Given the description of an element on the screen output the (x, y) to click on. 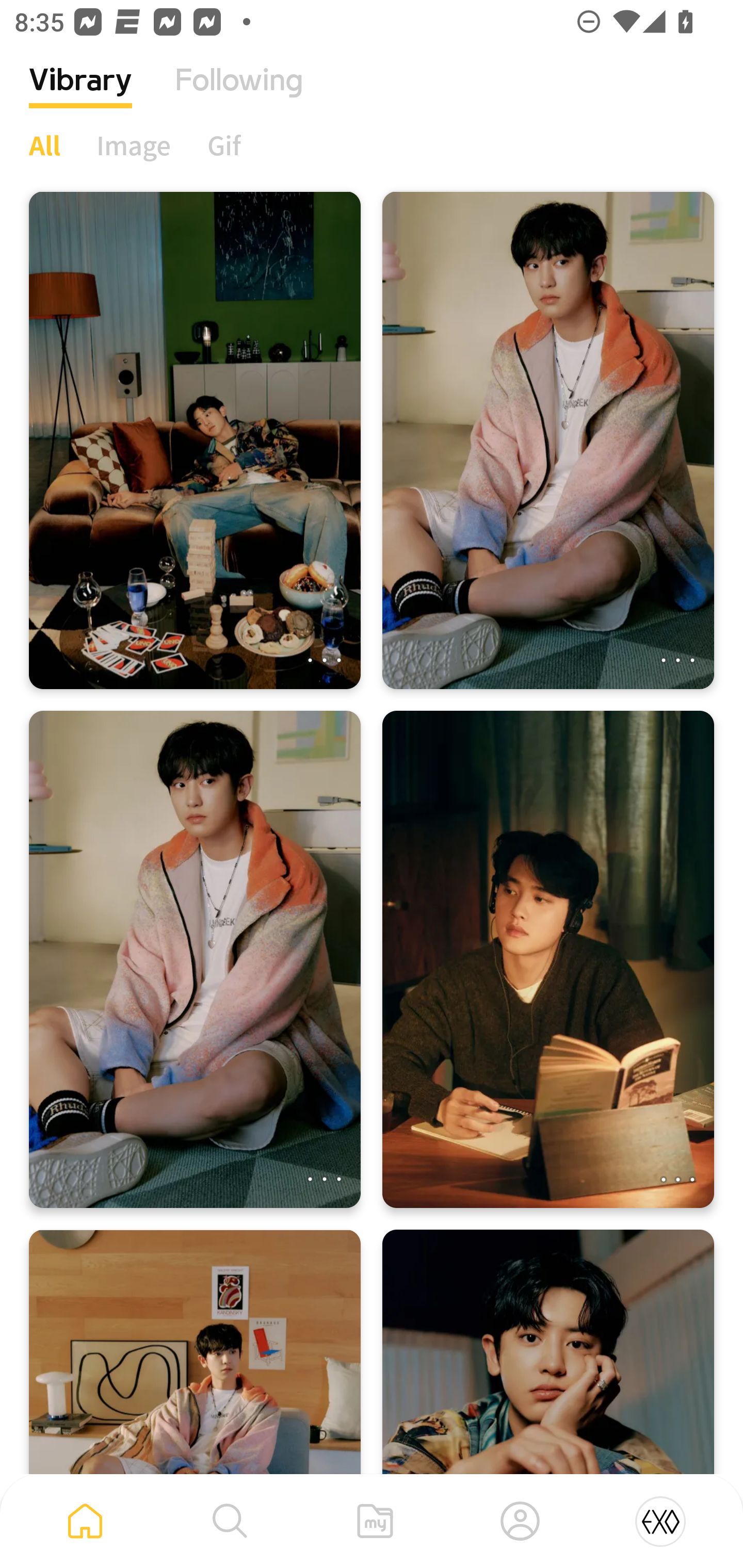
Vibrary (80, 95)
Following (239, 95)
All (44, 145)
Image (133, 145)
Gif (223, 145)
